Given the description of an element on the screen output the (x, y) to click on. 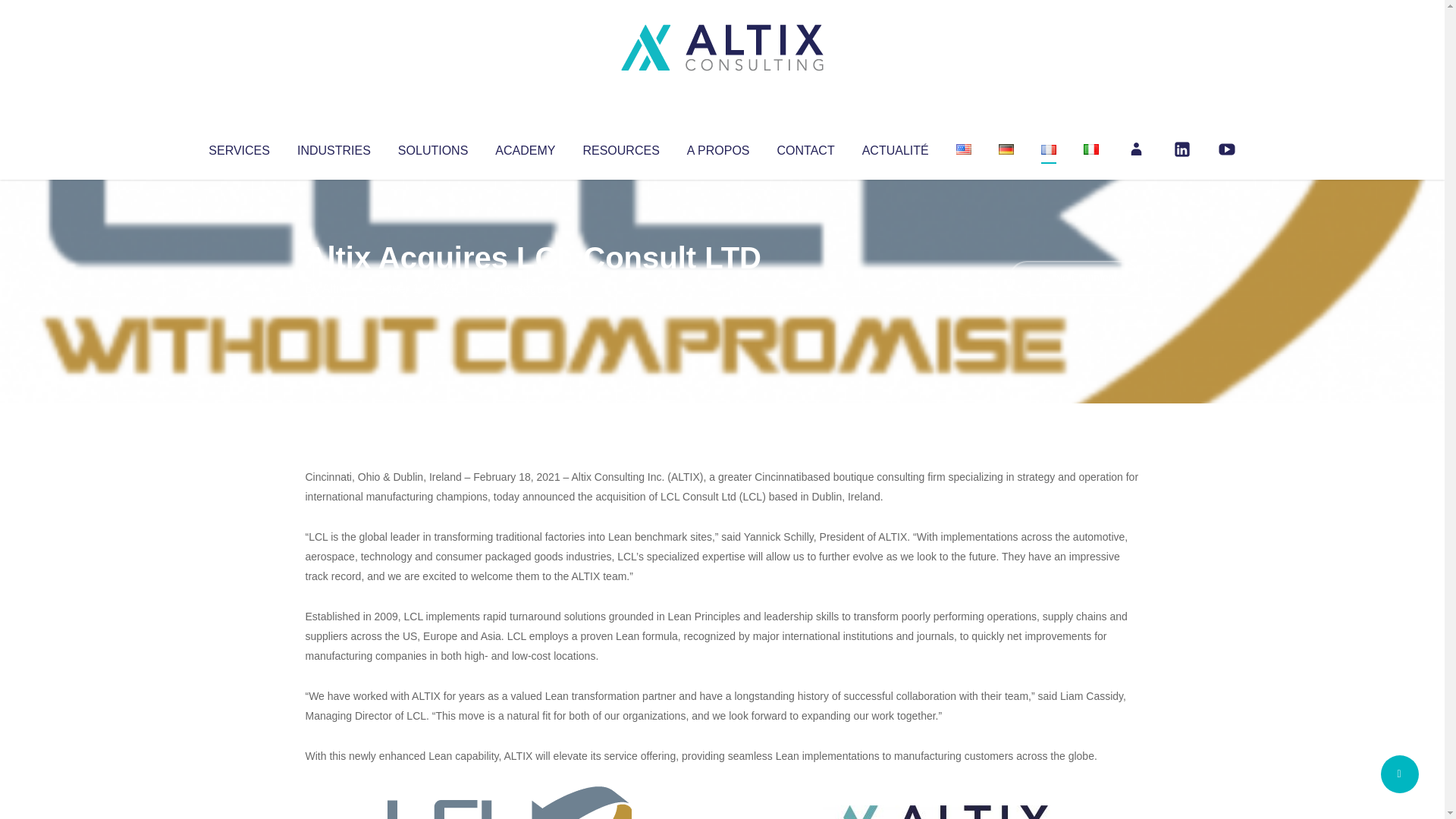
Altix (333, 287)
A PROPOS (718, 146)
INDUSTRIES (334, 146)
ACADEMY (524, 146)
Articles par Altix (333, 287)
No Comments (1073, 278)
SERVICES (238, 146)
Uncategorized (530, 287)
RESOURCES (620, 146)
SOLUTIONS (432, 146)
